Given the description of an element on the screen output the (x, y) to click on. 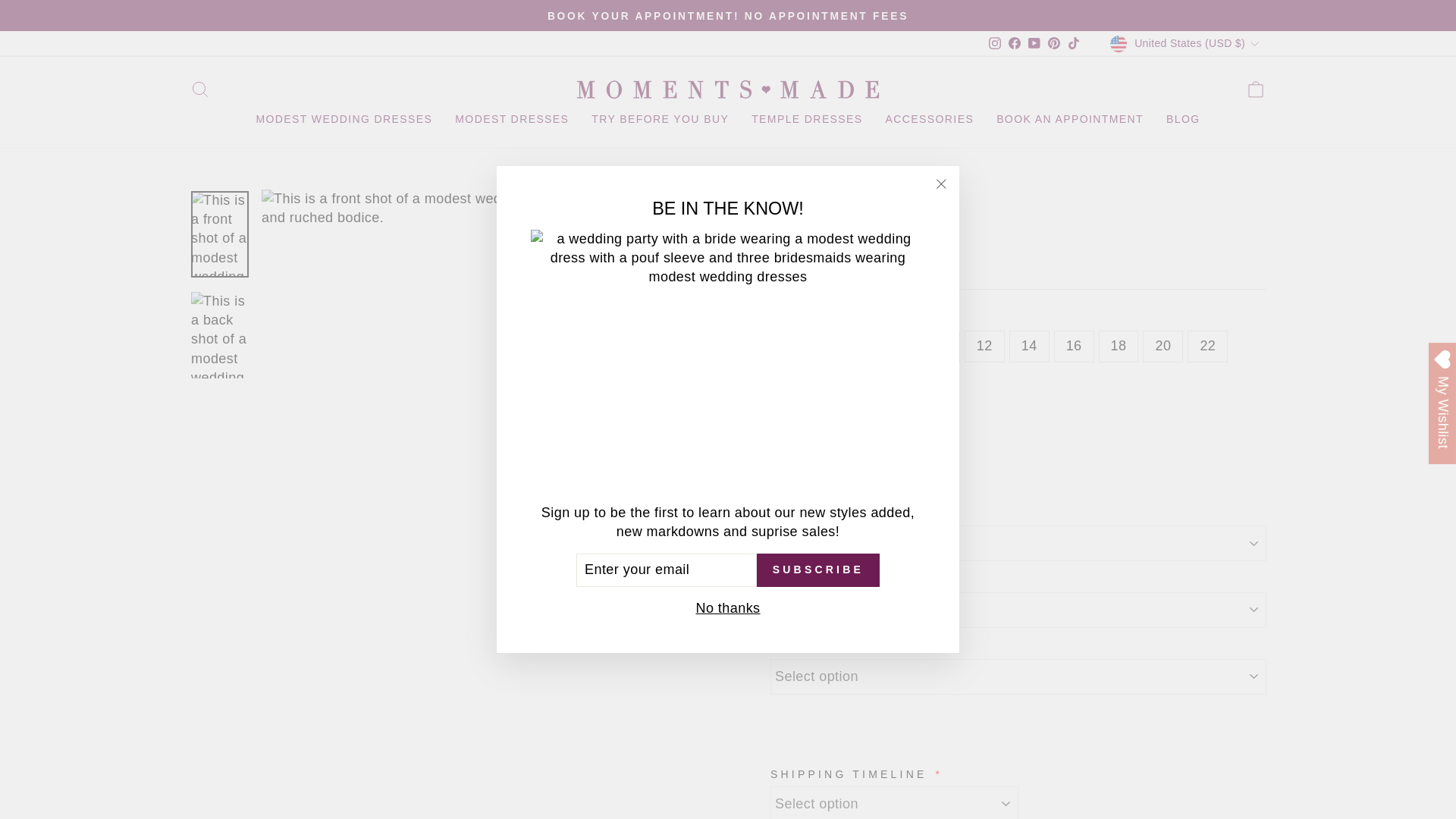
Moments Made Bridal on YouTube (1034, 43)
Moments Made Bridal on Facebook (1014, 43)
Moments Made Bridal on Pinterest (1053, 43)
BOOK YOUR APPOINTMENT! NO APPOINTMENT FEES (727, 15)
